Given the description of an element on the screen output the (x, y) to click on. 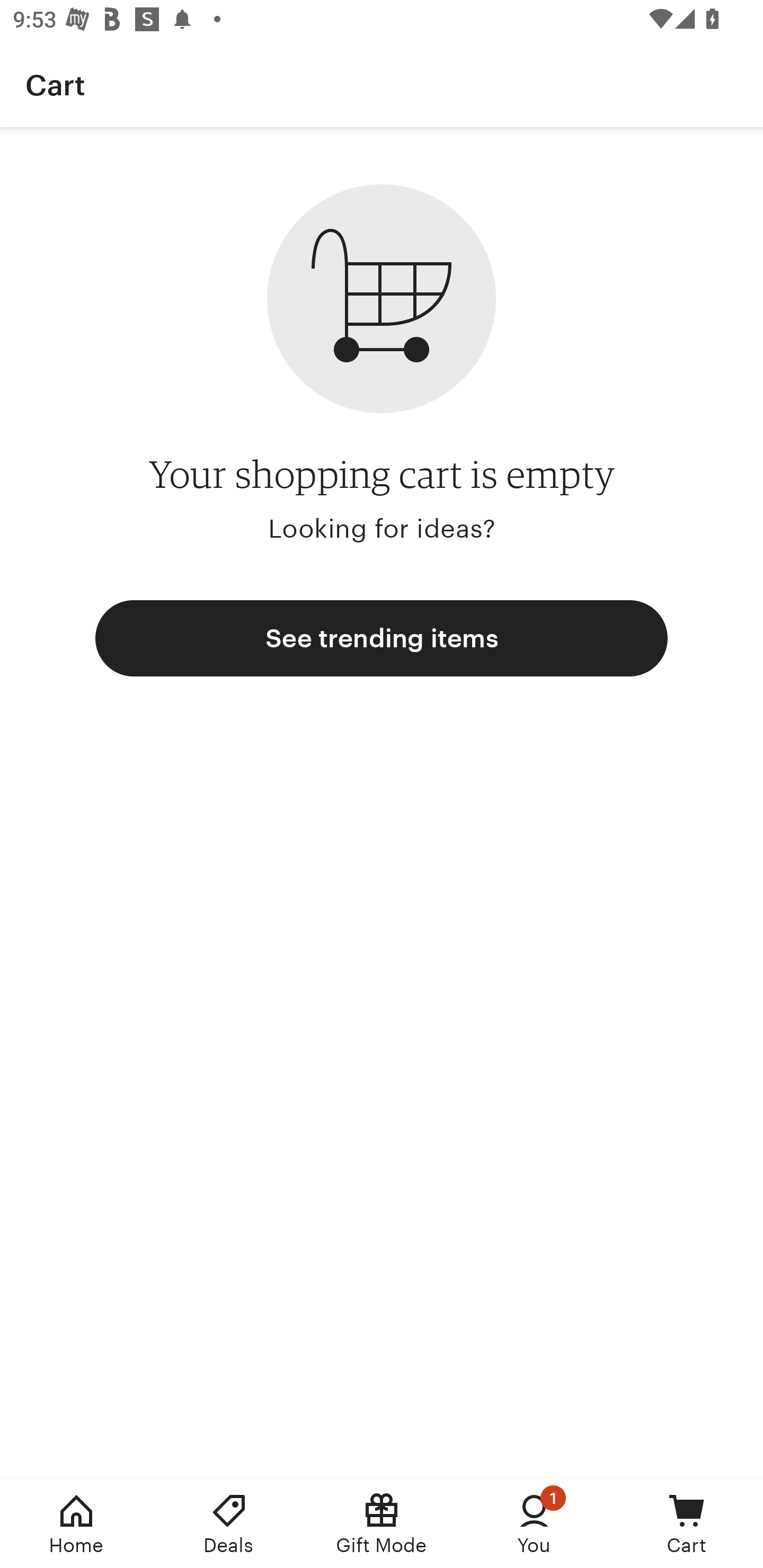
See trending items (381, 637)
Home (76, 1523)
Deals (228, 1523)
Gift Mode (381, 1523)
You, 1 new notification You (533, 1523)
